Given the description of an element on the screen output the (x, y) to click on. 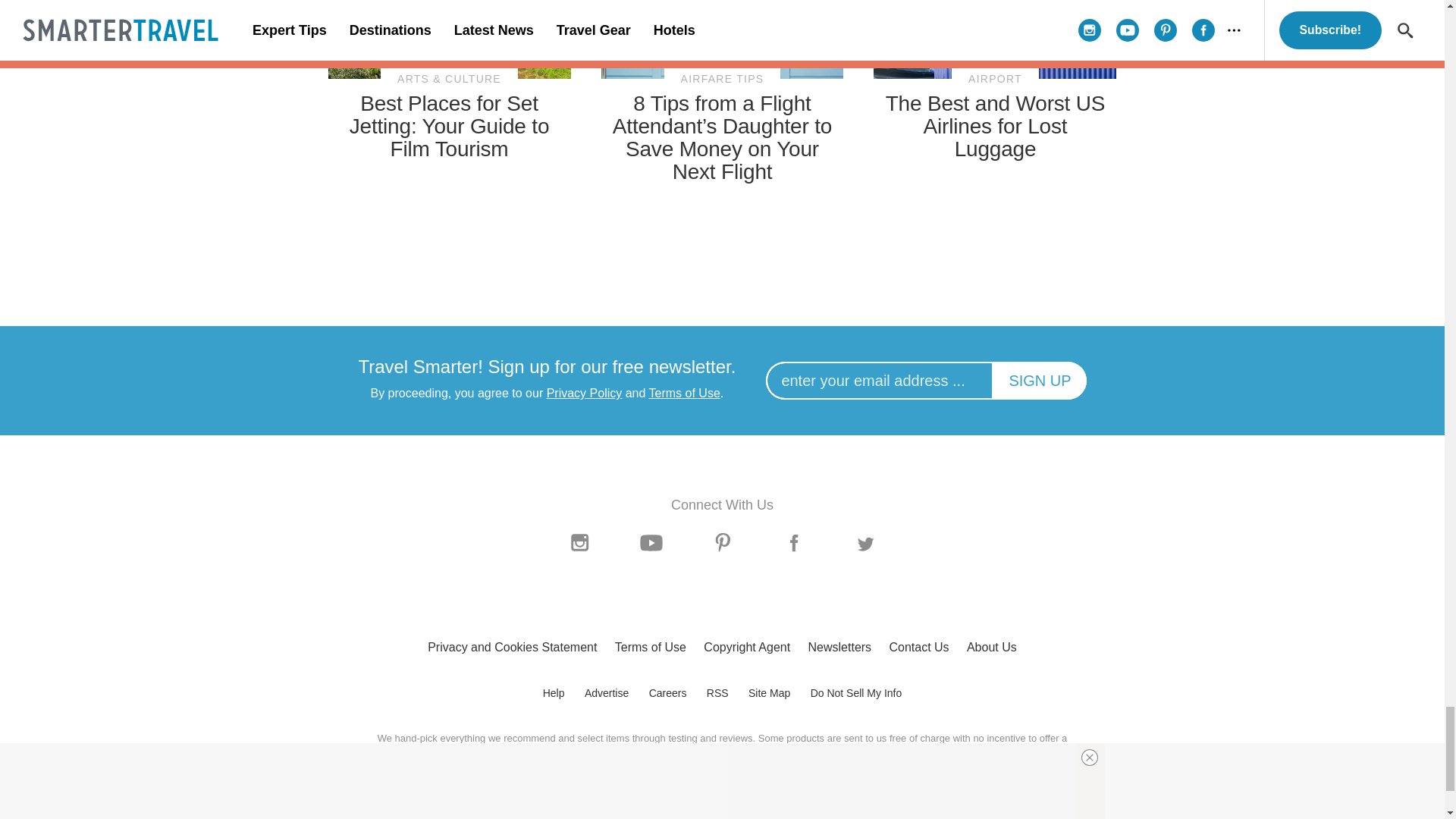
View all posts in Airfare Tips (721, 79)
View all posts in Airport (995, 79)
